Given the description of an element on the screen output the (x, y) to click on. 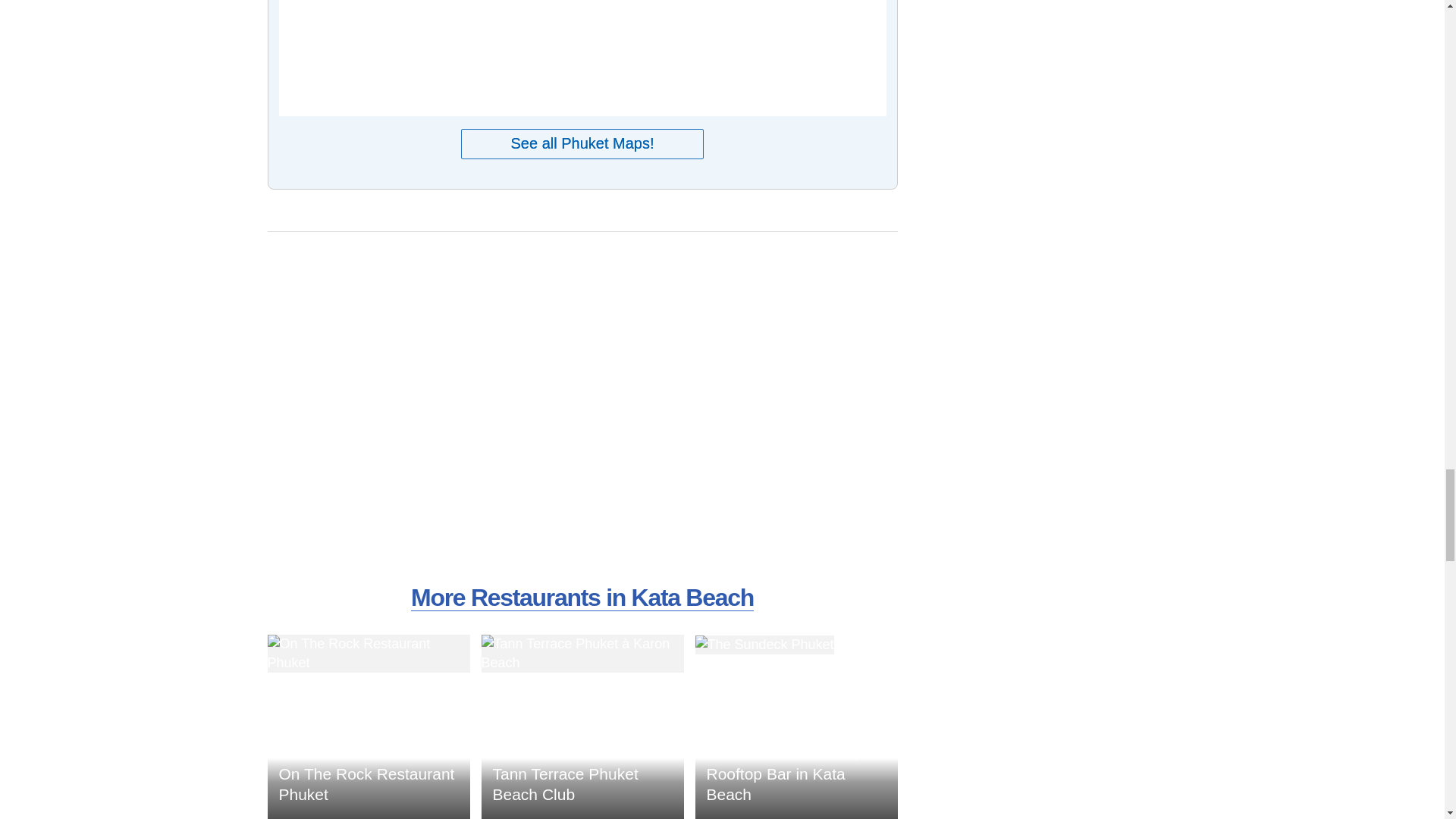
Laem Sai Cup Cafe in Kata Beach 4 (581, 653)
Laem Sai Cup Cafe in Kata Beach 5 (763, 644)
See all Phuket Maps! (582, 143)
Laem Sai Cup Cafe in Kata Beach 3 (367, 653)
